Given the description of an element on the screen output the (x, y) to click on. 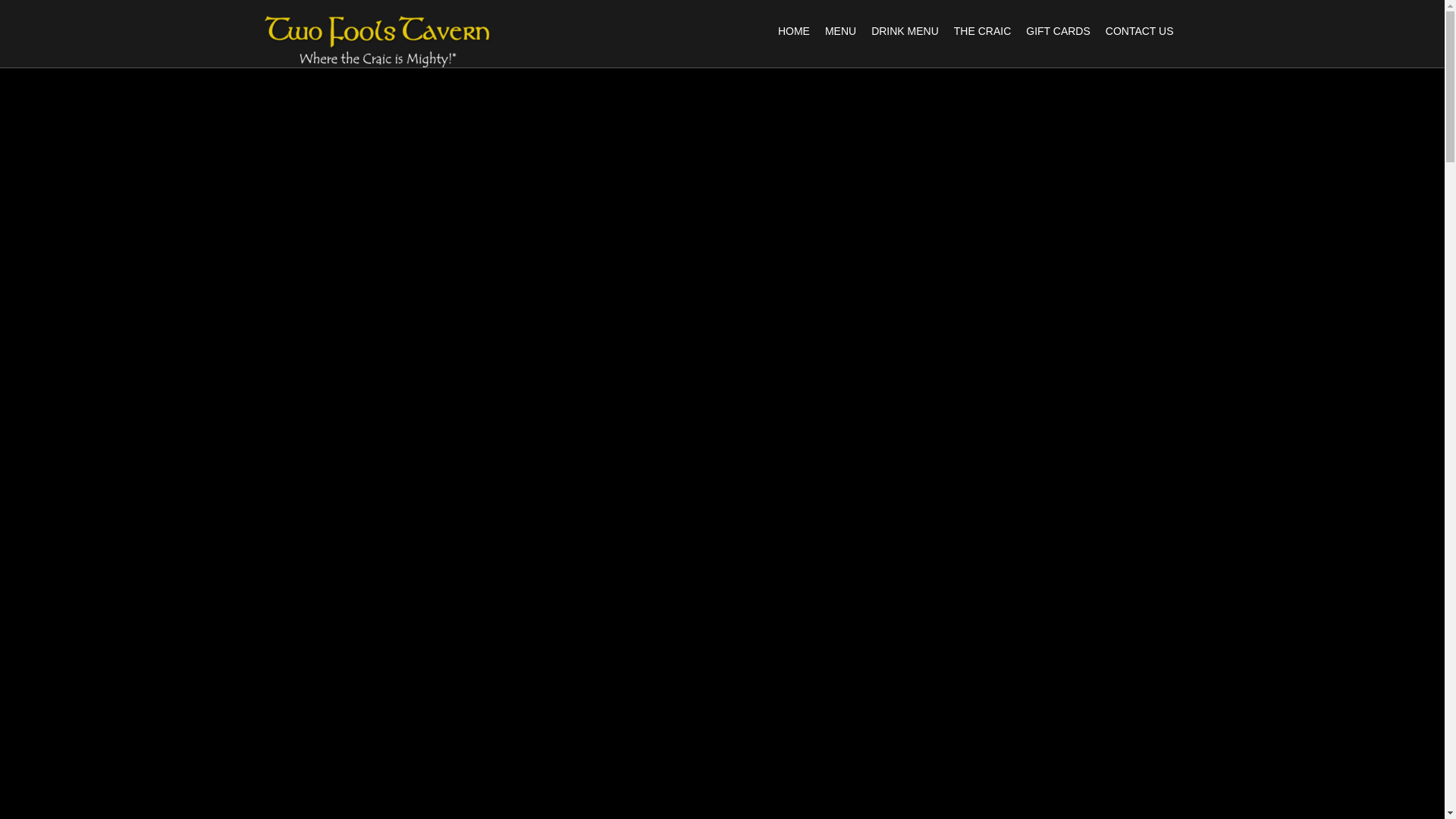
GIFT CARDS Element type: text (1058, 30)
THE CRAIC Element type: text (982, 30)
DRINK MENU Element type: text (904, 30)
CONTACT US Element type: text (1139, 30)
MENU Element type: text (840, 30)
HOME Element type: text (793, 30)
